Given the description of an element on the screen output the (x, y) to click on. 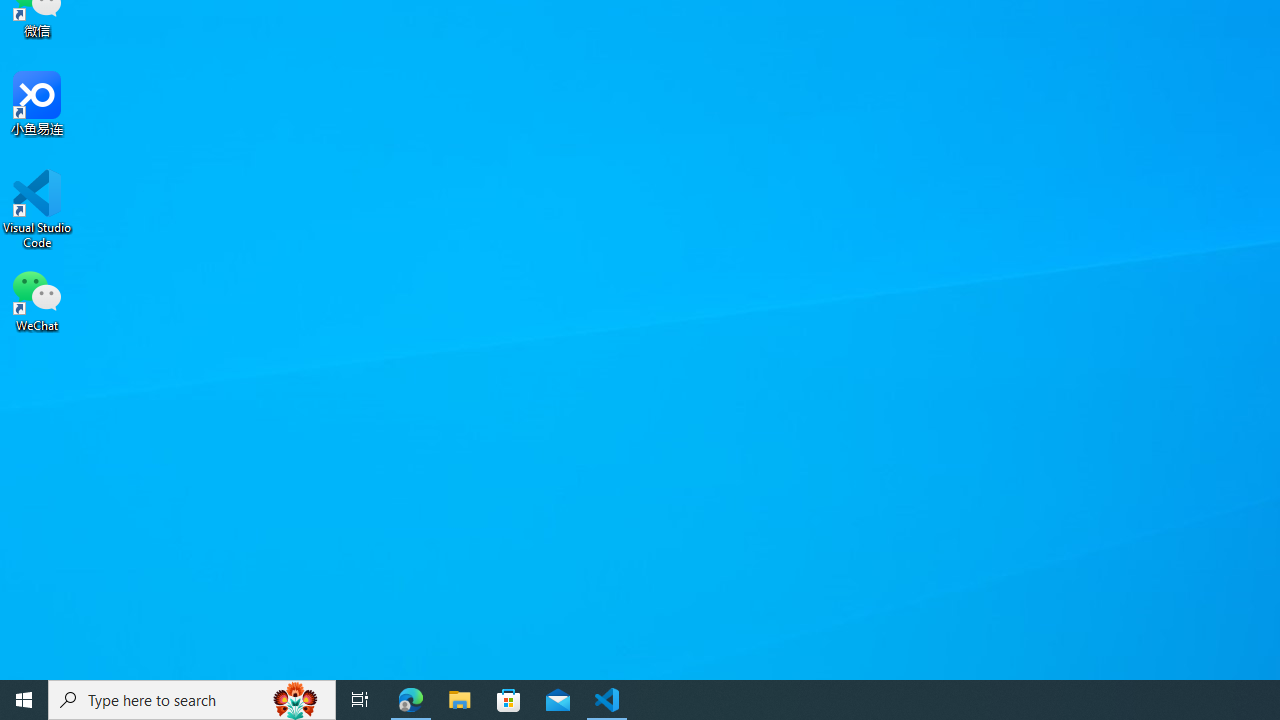
WeChat (37, 299)
Visual Studio Code (37, 209)
